Given the description of an element on the screen output the (x, y) to click on. 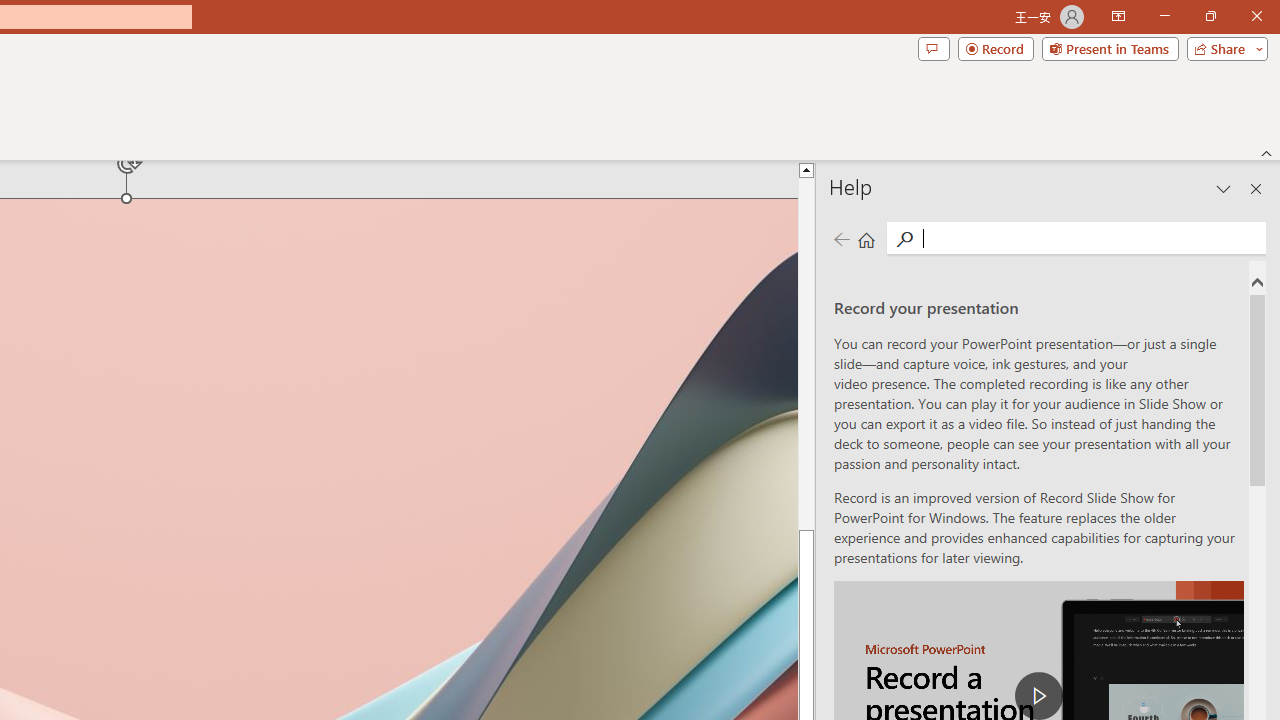
Previous page (841, 238)
Comments (933, 48)
Present in Teams (1109, 48)
Share (1223, 48)
Restore Down (1210, 16)
Record (995, 48)
Line up (806, 169)
Search (1089, 237)
Minimize (1164, 16)
Ribbon Display Options (1118, 16)
Close (1256, 16)
Task Pane Options (1224, 188)
Collapse the Ribbon (1267, 152)
Search (904, 238)
play Record a Presentation (1038, 695)
